Given the description of an element on the screen output the (x, y) to click on. 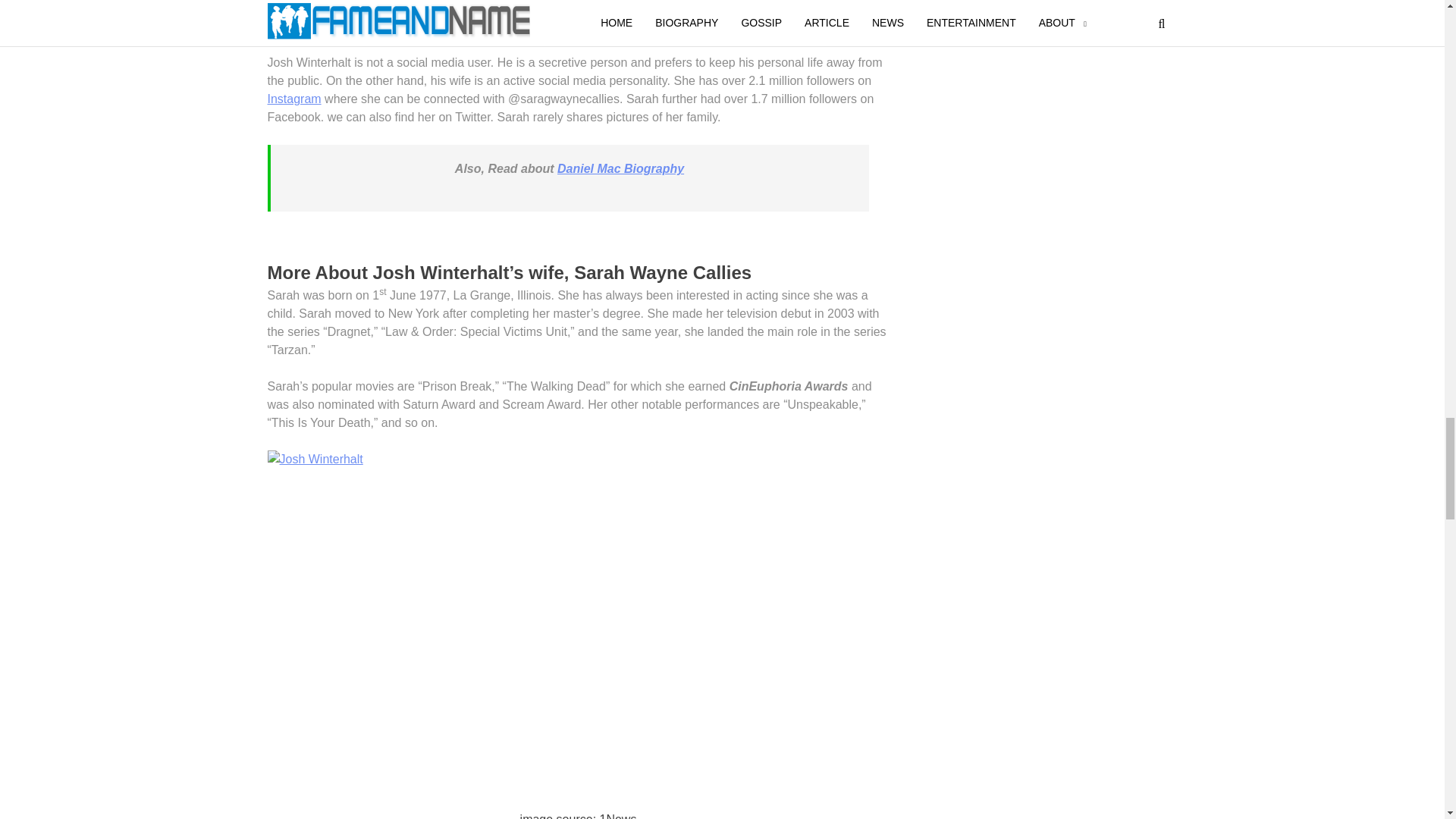
Instagram (293, 98)
Daniel Mac Biography (620, 168)
